Given the description of an element on the screen output the (x, y) to click on. 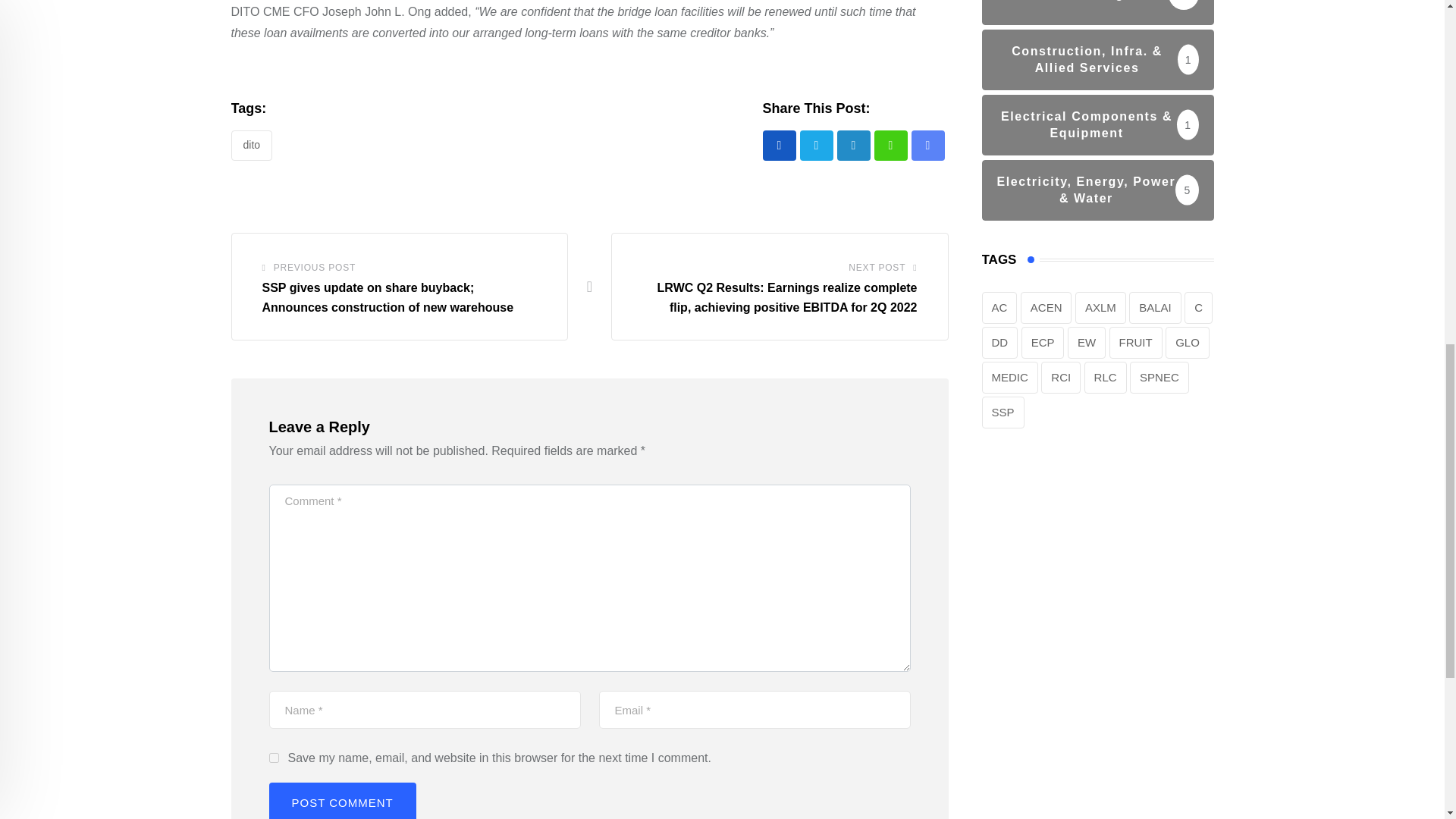
yes (272, 757)
Post Comment (340, 800)
